Given the description of an element on the screen output the (x, y) to click on. 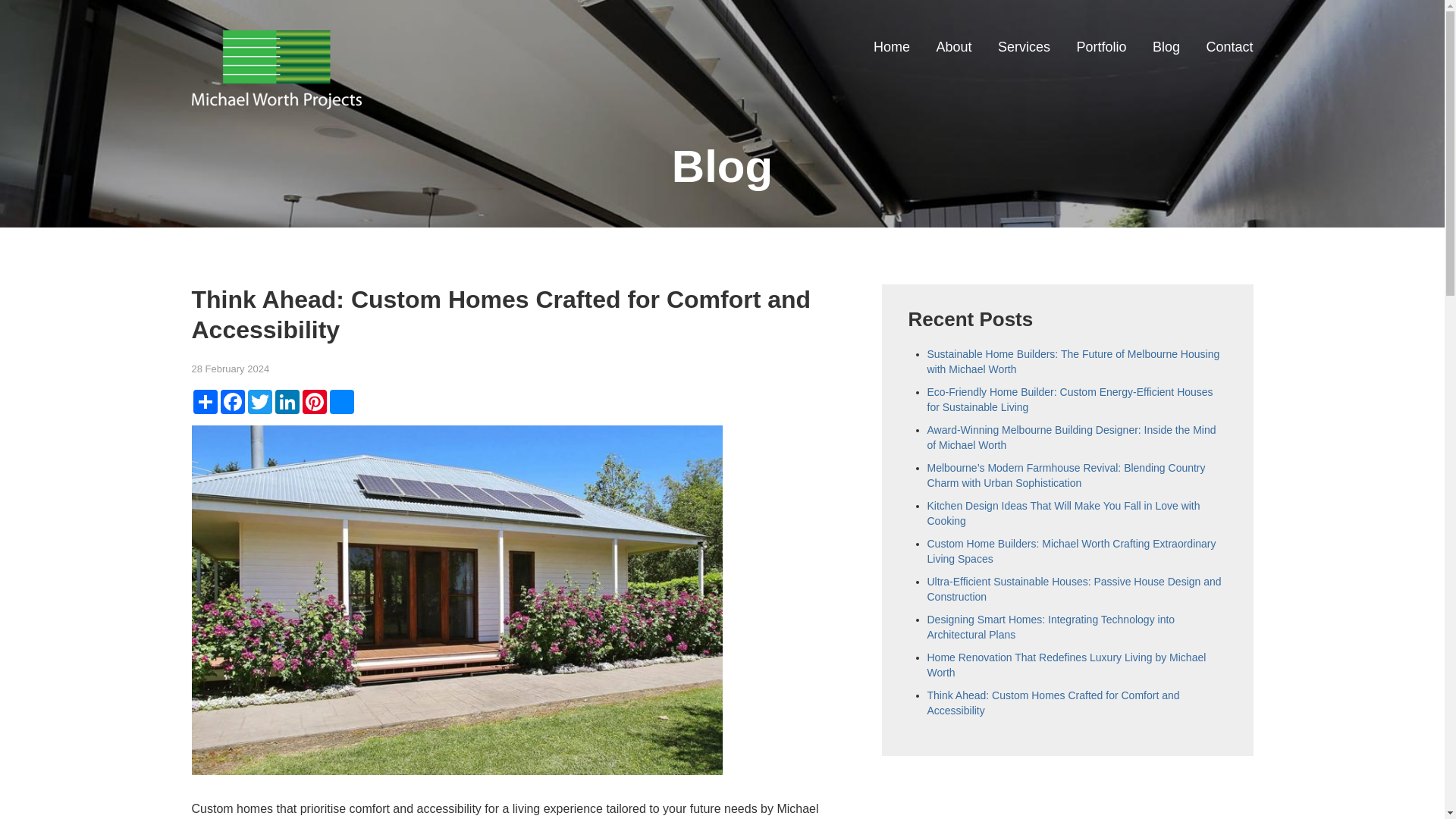
Blog (1166, 46)
Pinterest (313, 401)
Messenger (341, 401)
About (953, 46)
Portfolio (1100, 46)
Services (1023, 46)
Twitter (259, 401)
LinkedIn (286, 401)
